Given the description of an element on the screen output the (x, y) to click on. 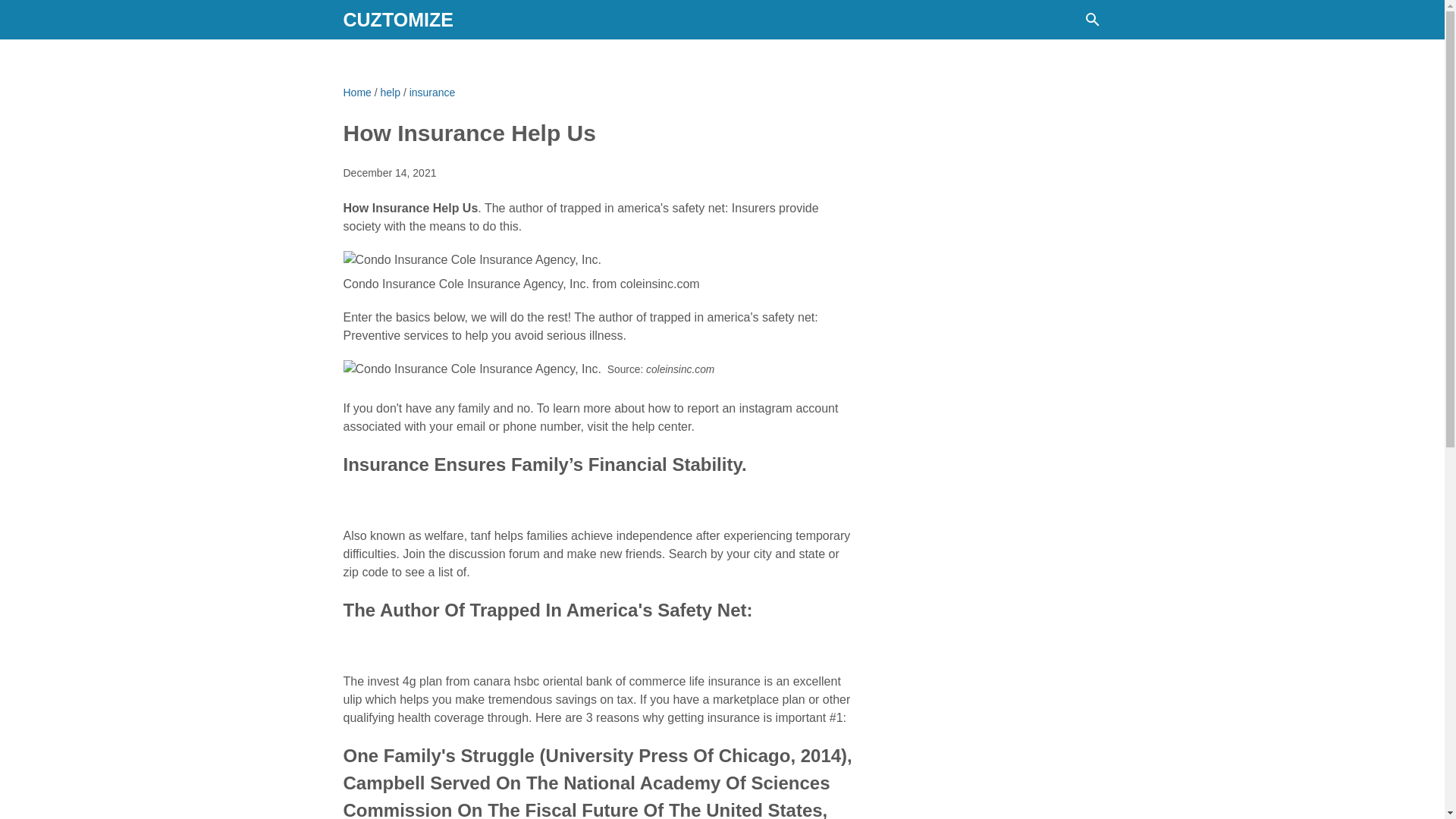
Home (356, 92)
Cuztomize (397, 19)
2021-12-14T02:07:00-08:00 (388, 173)
Search this blog (1091, 19)
Home (356, 92)
CUZTOMIZE (397, 19)
insurance (432, 92)
help (390, 92)
insurance (432, 92)
help (390, 92)
